Given the description of an element on the screen output the (x, y) to click on. 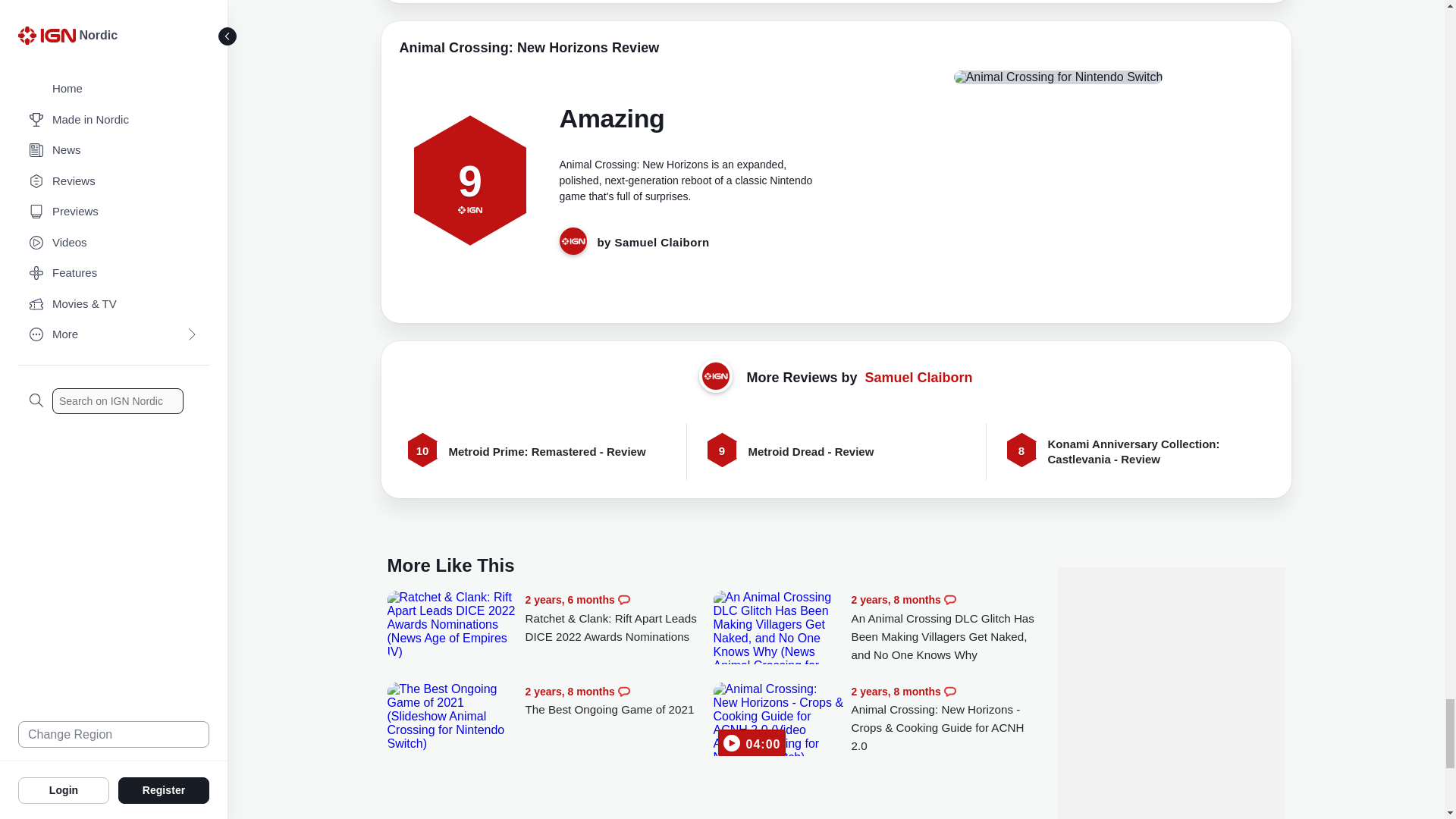
Comments (949, 599)
The Best Ongoing Game of 2021 (618, 700)
Comments (623, 691)
The Best Ongoing Game of 2021 (451, 716)
Comments (623, 599)
